Given the description of an element on the screen output the (x, y) to click on. 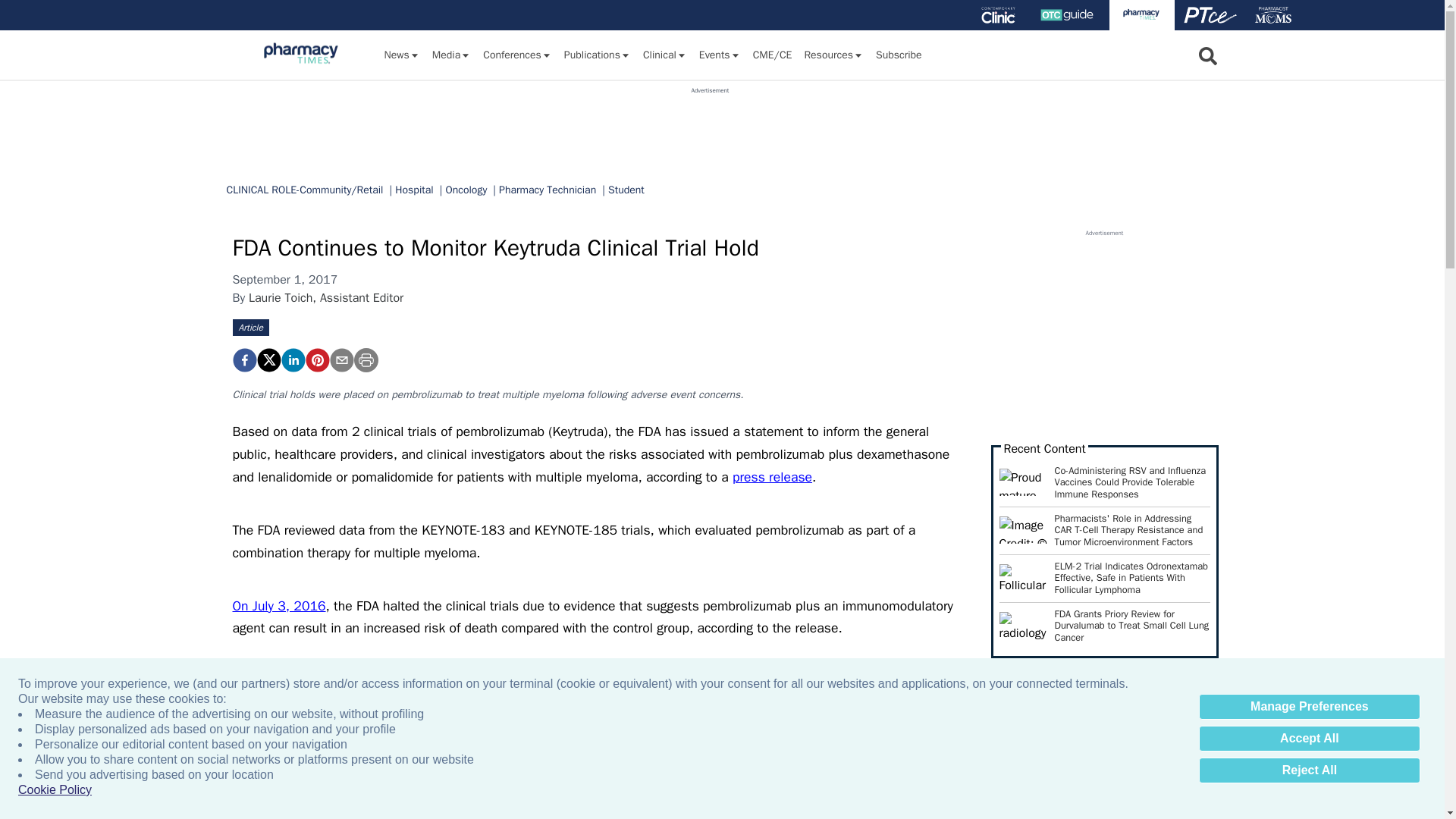
Accept All (1309, 738)
Manage Preferences (1309, 706)
FDA Continues to Monitor Keytruda Clinical Trial Hold (243, 360)
3rd party ad content (709, 128)
Reject All (1309, 769)
Cookie Policy (54, 789)
FDA Continues to Monitor Keytruda Clinical Trial Hold (316, 360)
